Given the description of an element on the screen output the (x, y) to click on. 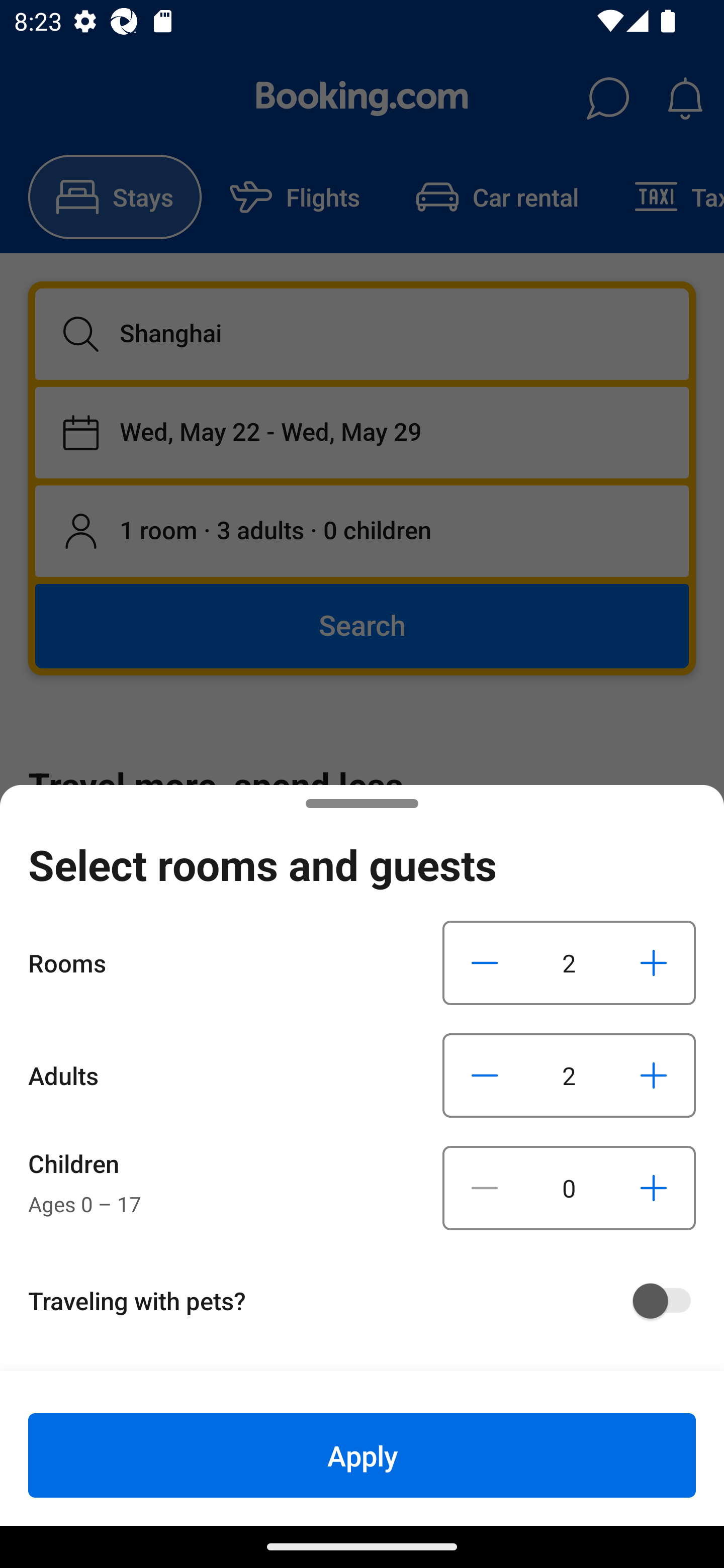
Decrease (484, 962)
Increase (653, 962)
Decrease (484, 1075)
Increase (653, 1075)
Decrease (484, 1188)
Increase (653, 1188)
Traveling with pets? (369, 1300)
Apply (361, 1454)
